Given the description of an element on the screen output the (x, y) to click on. 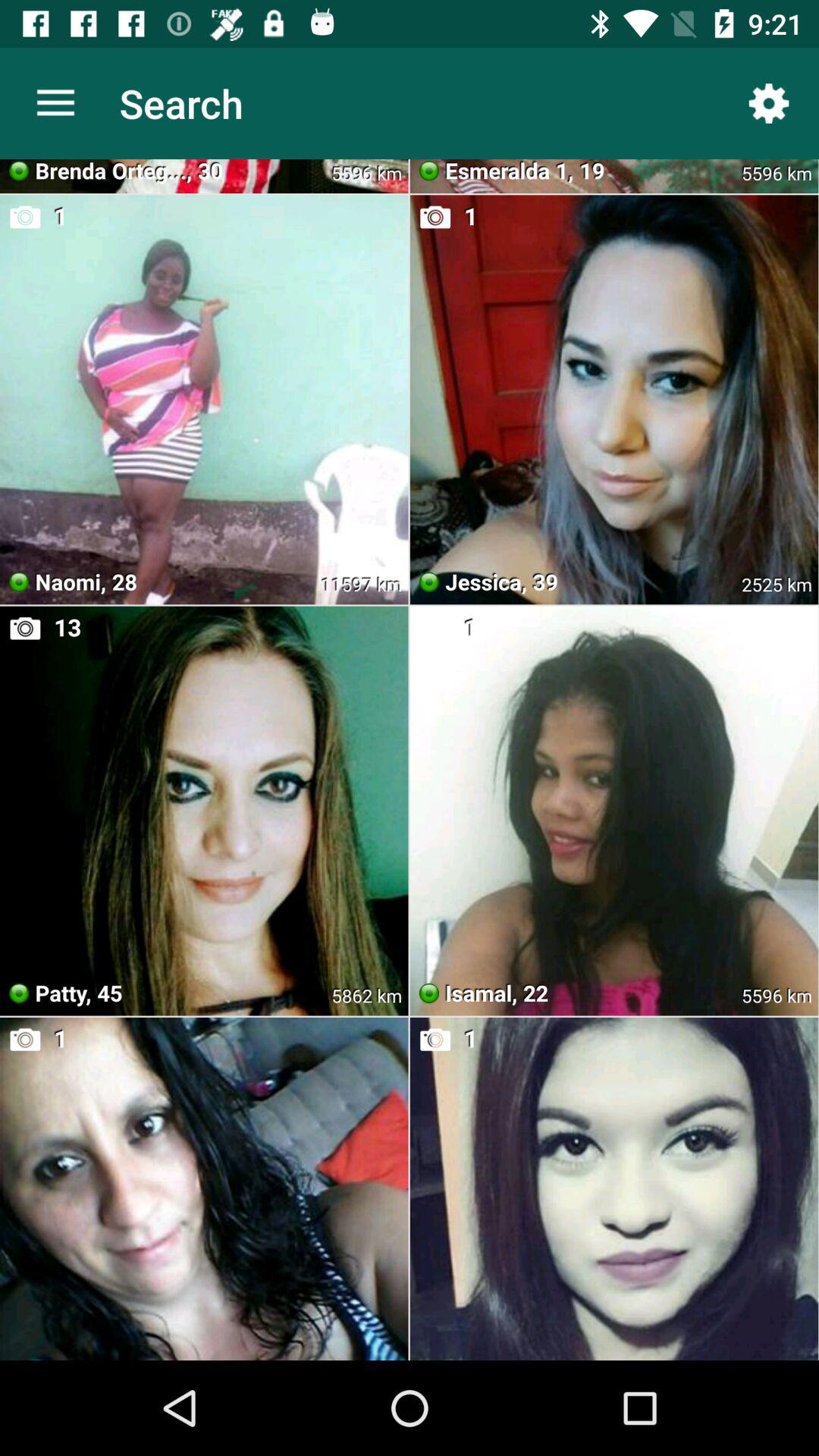
turn on item to the right of search (768, 103)
